Given the description of an element on the screen output the (x, y) to click on. 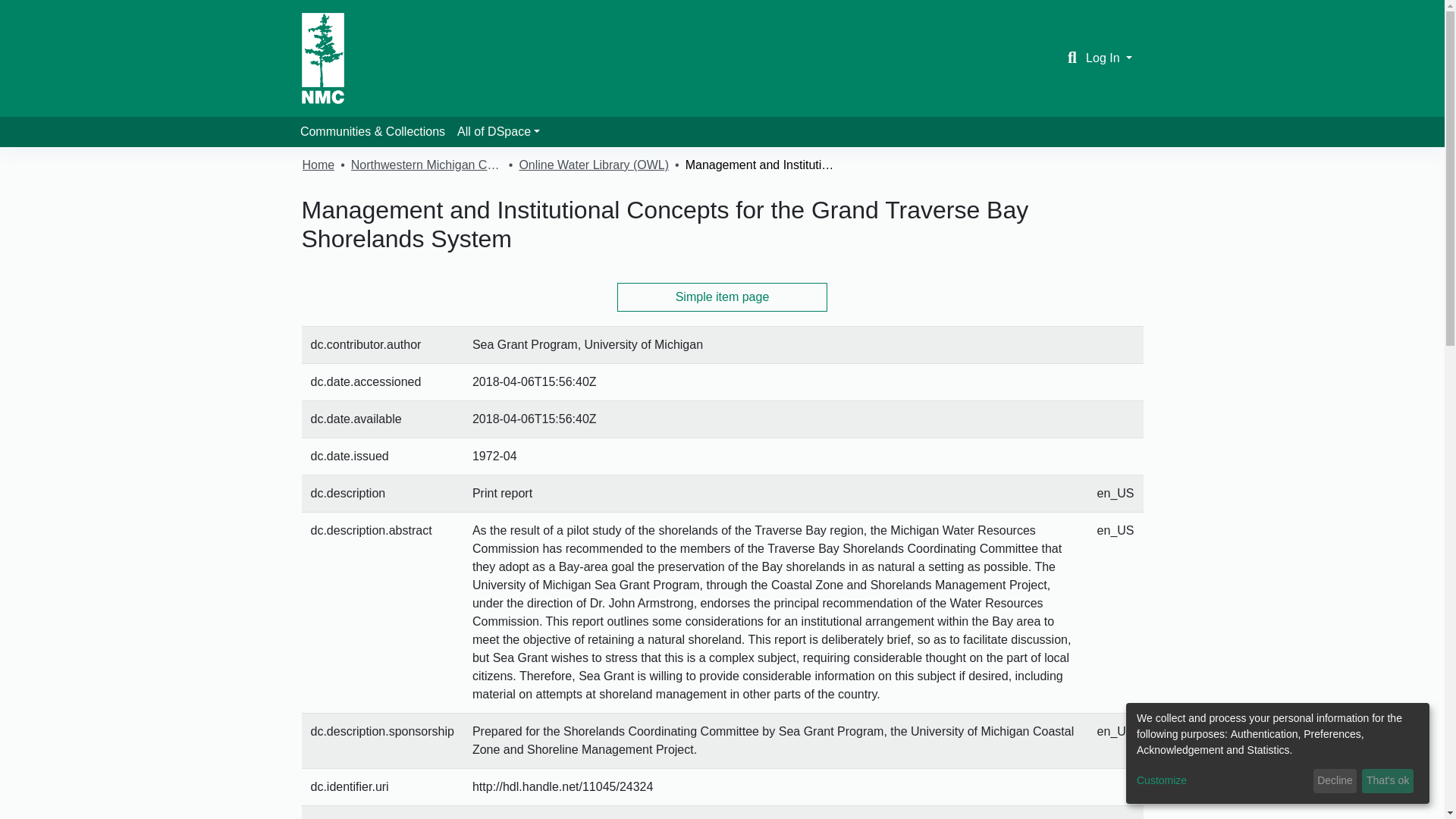
Home (317, 165)
Log In (1108, 57)
Decline (1334, 781)
Search (1072, 58)
Northwestern Michigan College (426, 165)
Simple item page (722, 297)
Customize (1222, 780)
All of DSpace (498, 132)
That's ok (1387, 781)
